Given the description of an element on the screen output the (x, y) to click on. 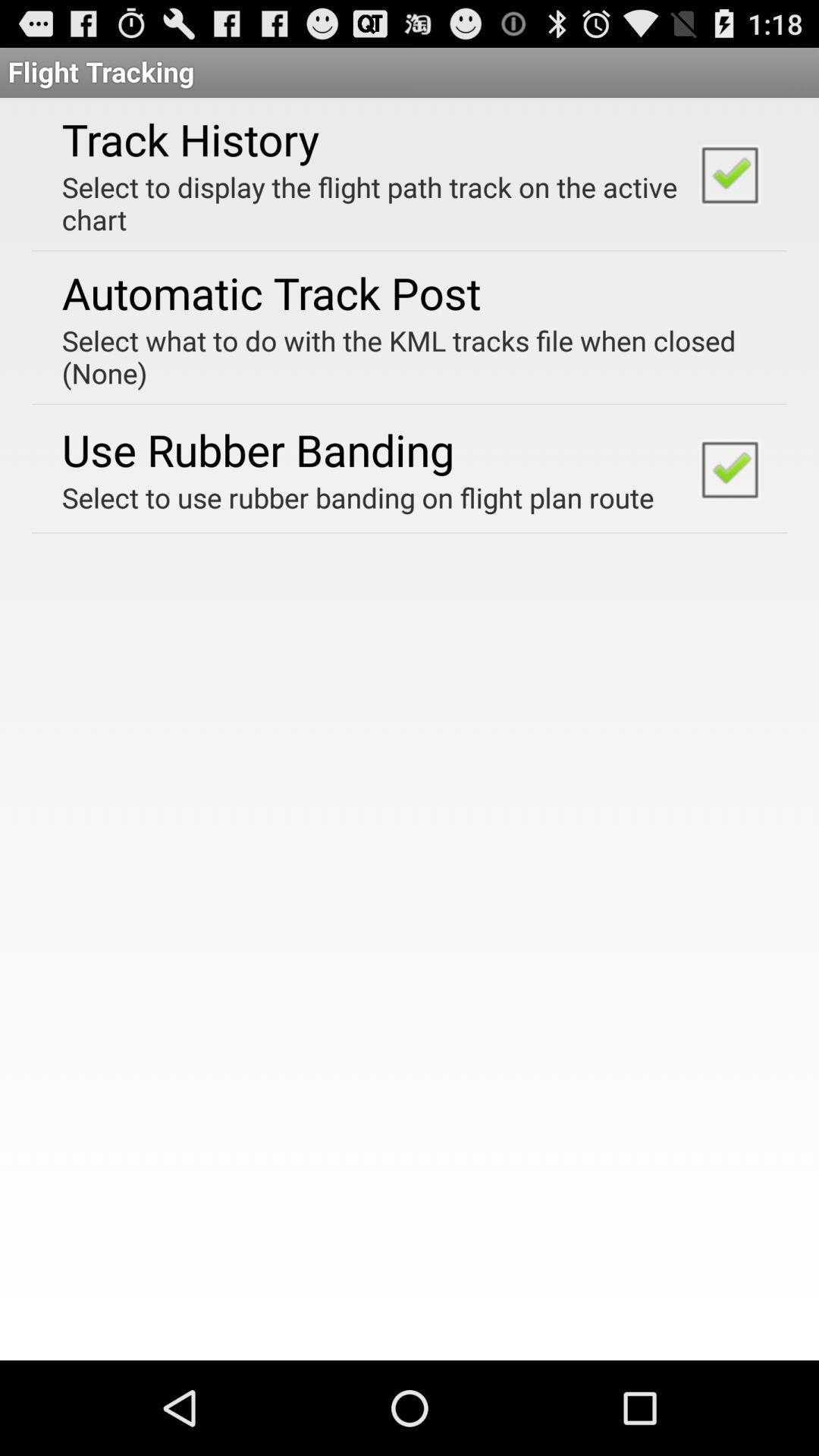
swipe until track history icon (190, 138)
